Given the description of an element on the screen output the (x, y) to click on. 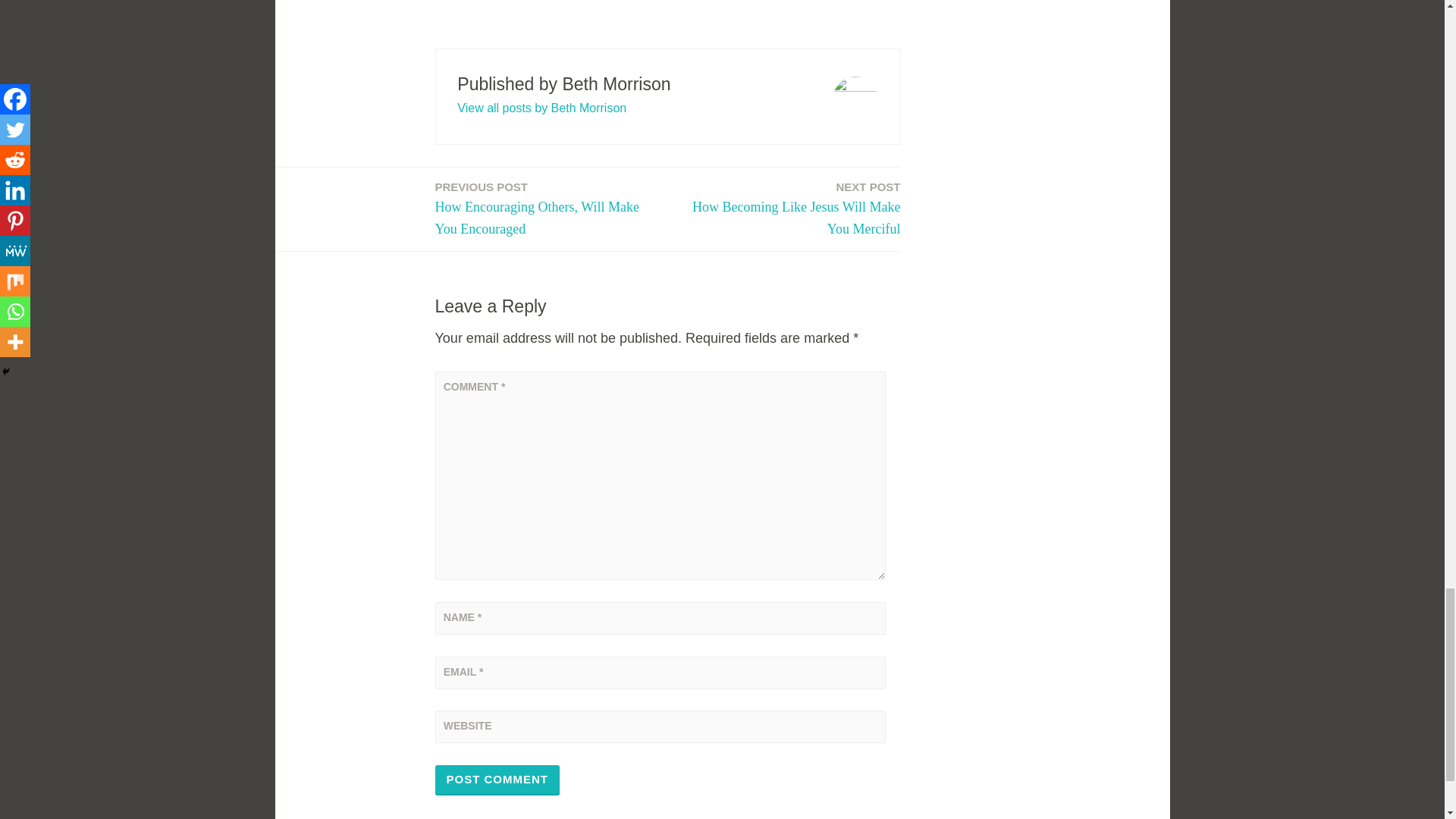
Post Comment (789, 209)
Post Comment (497, 779)
View all posts by Beth Morrison (497, 779)
